Given the description of an element on the screen output the (x, y) to click on. 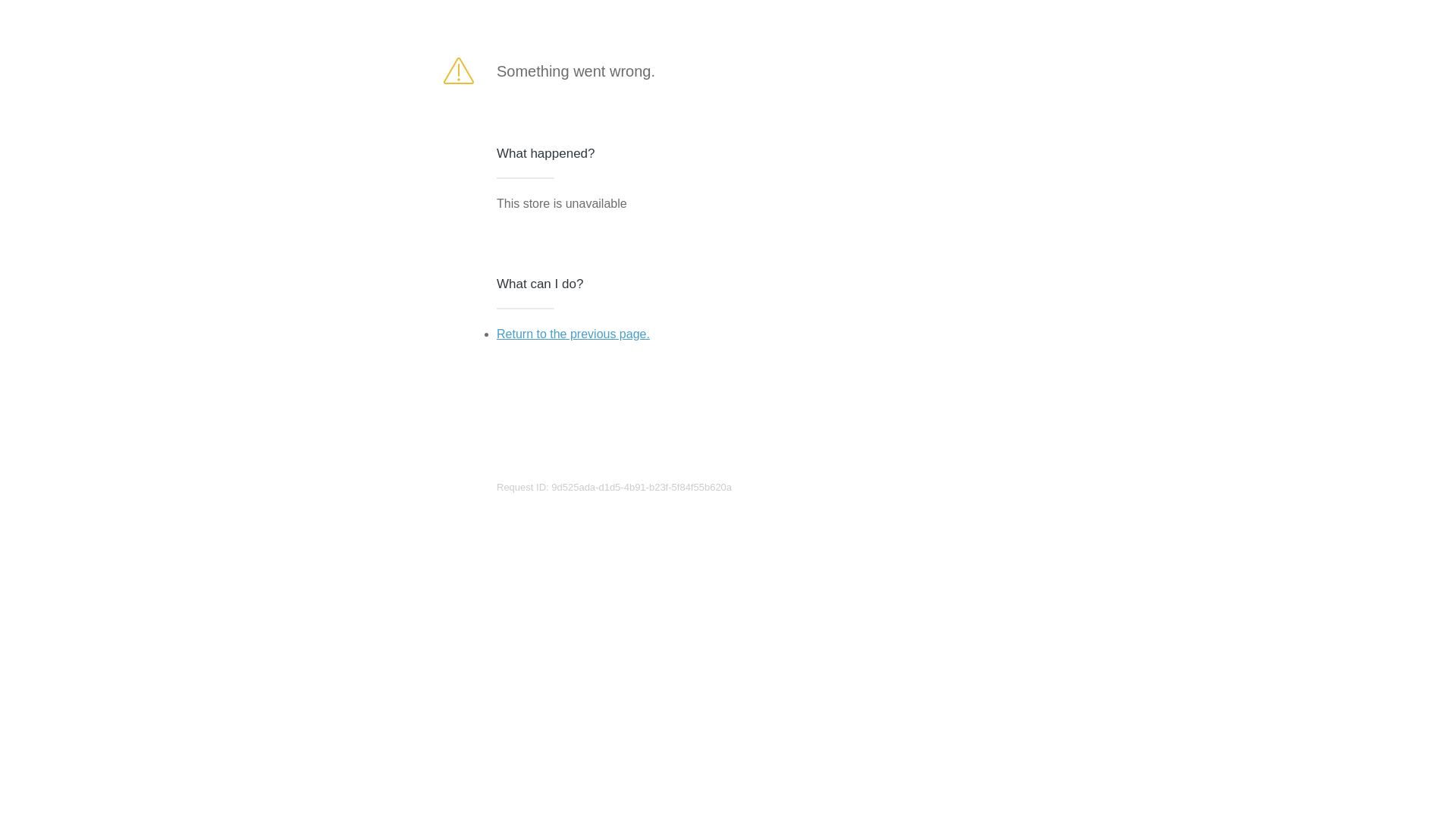
Return to the previous page. Element type: text (572, 333)
